Given the description of an element on the screen output the (x, y) to click on. 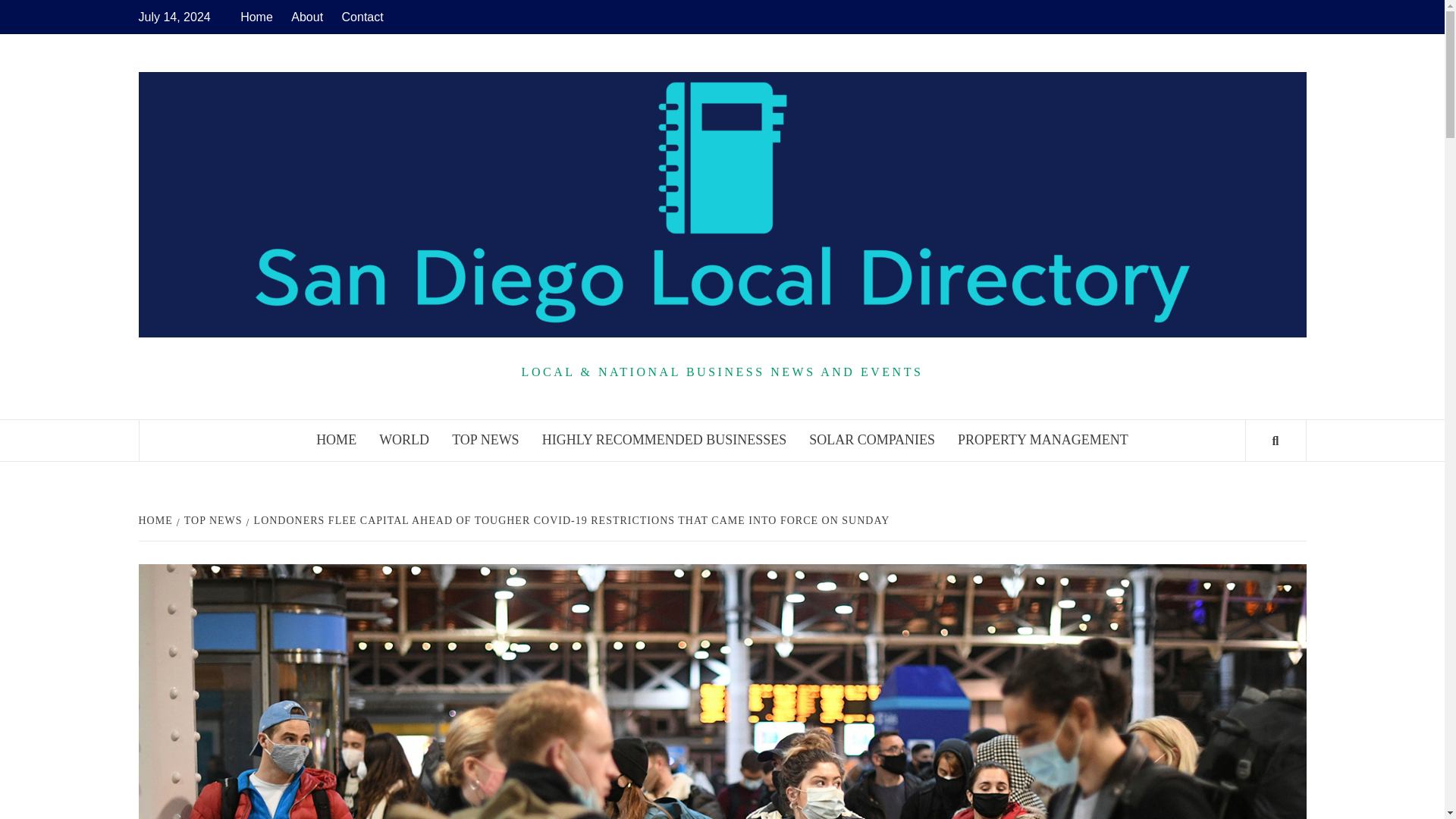
About (306, 17)
HOME (336, 440)
WORLD (404, 440)
Home (260, 17)
SOLAR COMPANIES (871, 440)
TOP NEWS (486, 440)
HIGHLY RECOMMENDED BUSINESSES (664, 440)
HOME (157, 520)
PROPERTY MANAGEMENT (1043, 440)
Contact (362, 17)
TOP NEWS (211, 520)
